Given the description of an element on the screen output the (x, y) to click on. 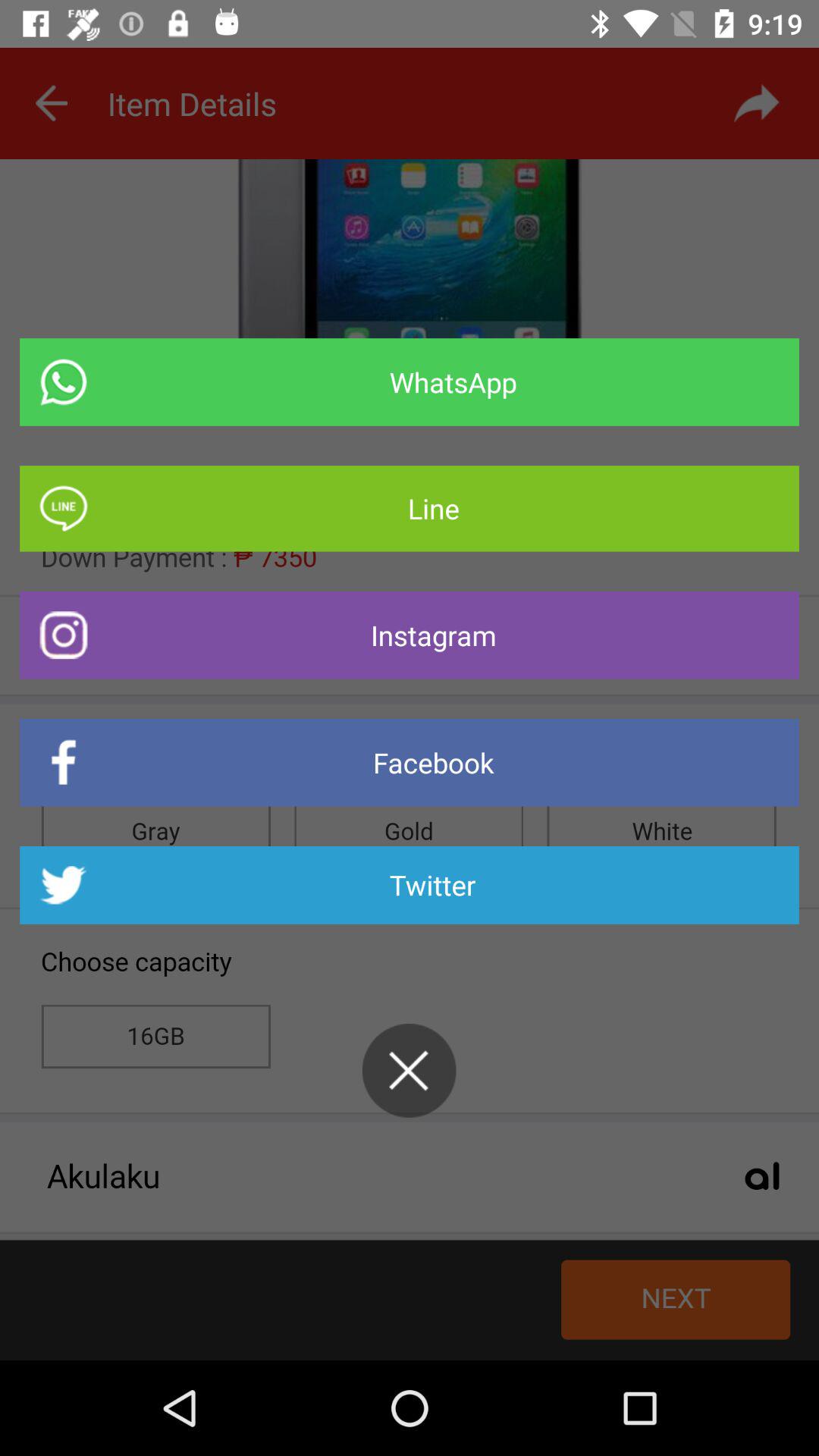
select the whatsapp icon (409, 381)
